Given the description of an element on the screen output the (x, y) to click on. 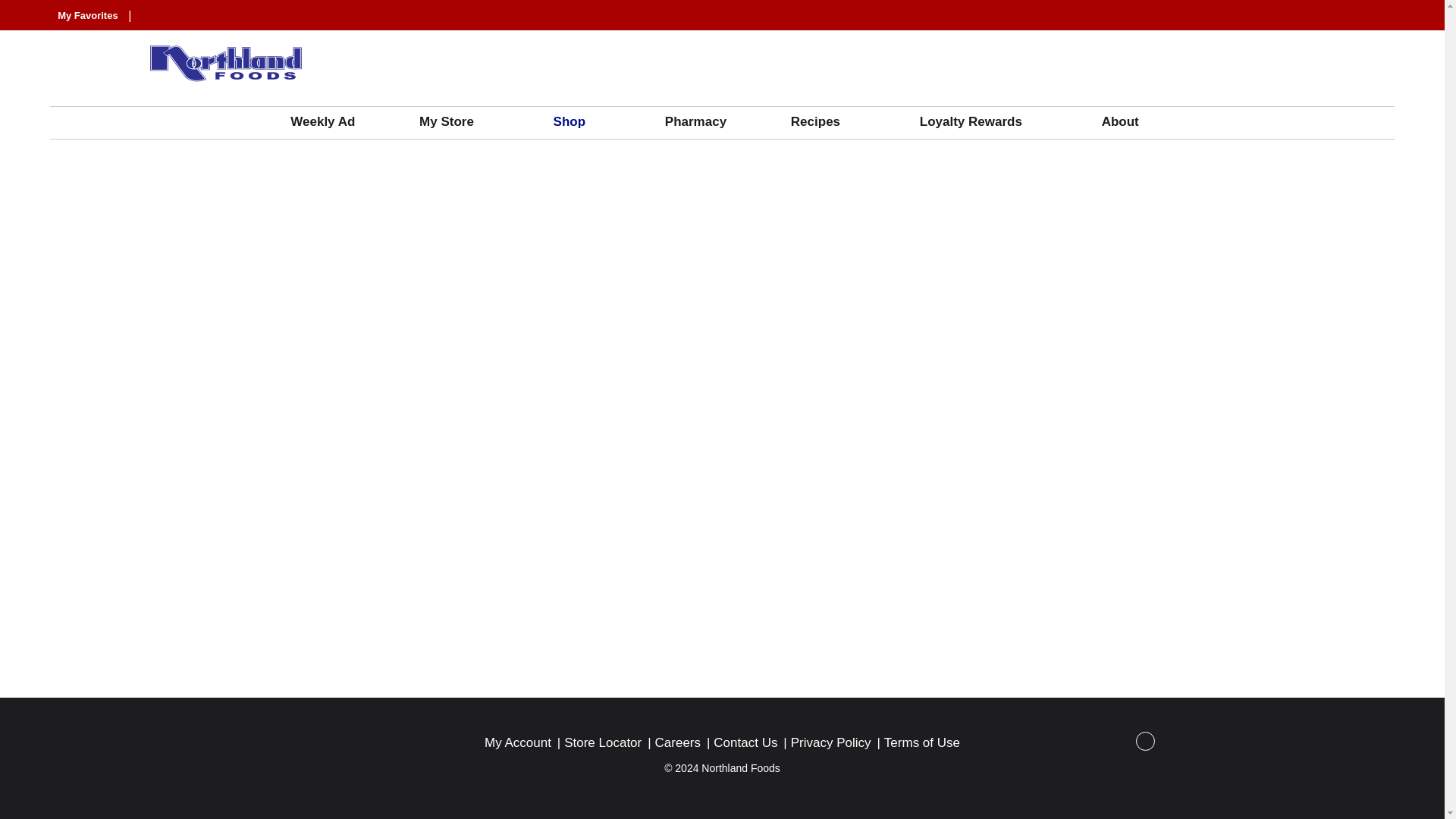
Weekly Ad (329, 122)
facebook (1144, 746)
Pharmacy (703, 122)
Contact Us (745, 743)
Terms of Use (921, 743)
Loyalty Rewards (986, 122)
Shop (584, 122)
Privacy Policy (830, 743)
My Store (461, 122)
Careers (677, 743)
